Given the description of an element on the screen output the (x, y) to click on. 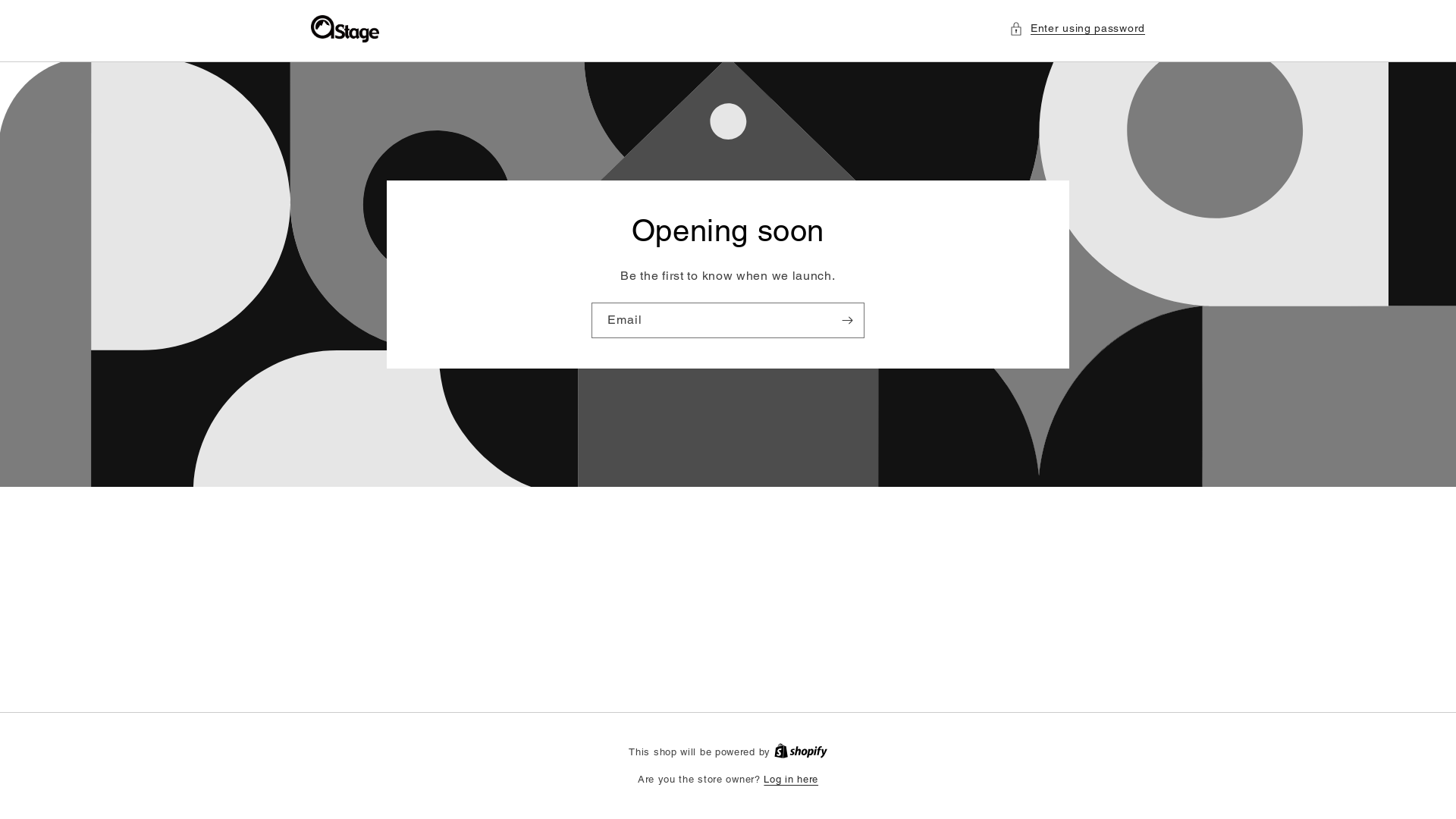
Log in here Element type: text (790, 779)
